Given the description of an element on the screen output the (x, y) to click on. 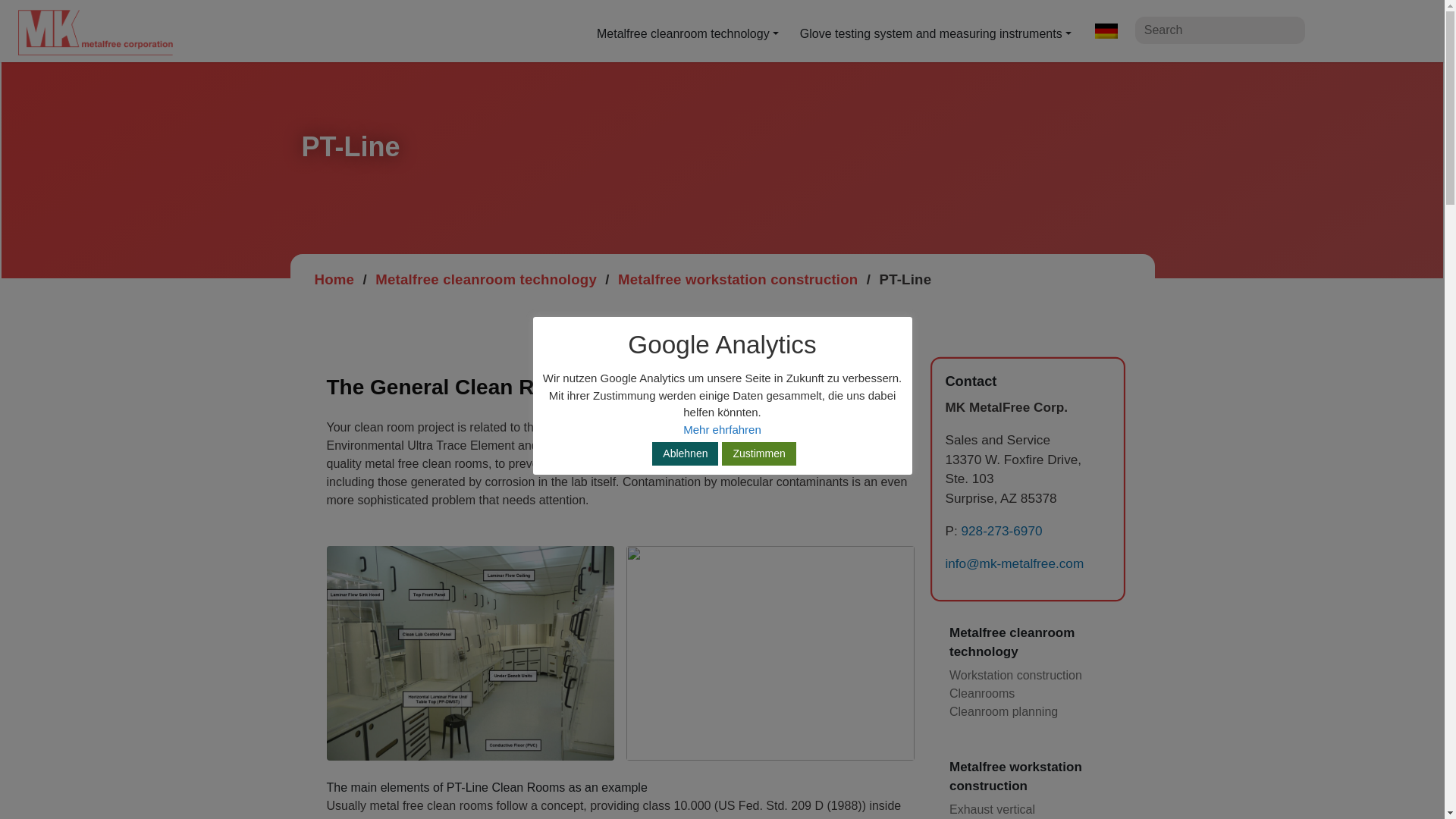
Metalfree workstation construction (737, 279)
Home (333, 279)
Metalfree cleanroom technology (485, 279)
Glove testing system and measuring instruments (935, 33)
Metalfree cleanroom technology (687, 33)
MK (105, 31)
